Given the description of an element on the screen output the (x, y) to click on. 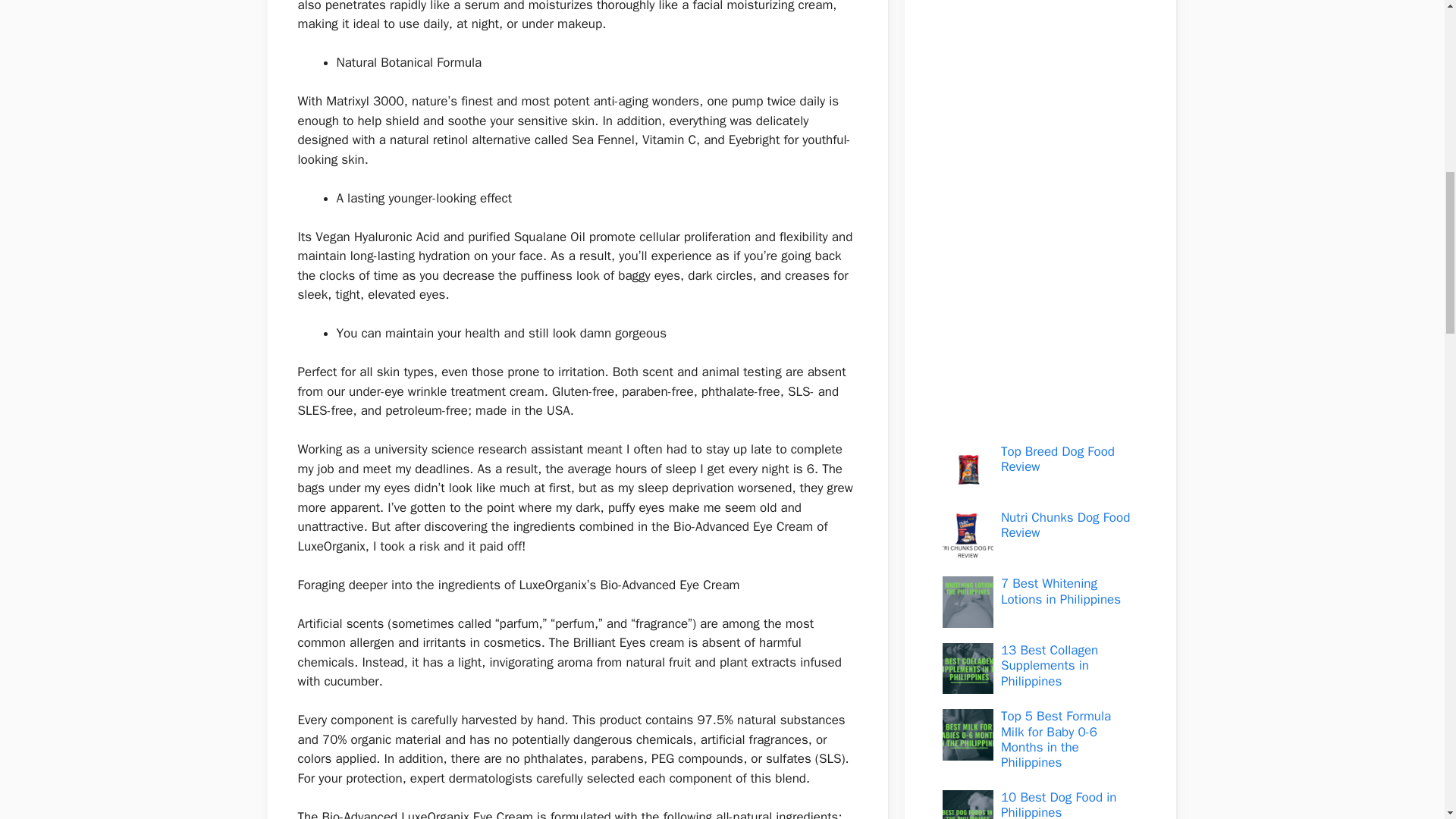
Top Breed Dog Food Review (1058, 459)
7 Best Whitening Lotions in Philippines (1061, 590)
13 Best Collagen Supplements in Philippines (1049, 665)
10 Best Dog Food in Philippines (1058, 804)
Advertisement (1031, 210)
Nutri Chunks Dog Food Review (1065, 524)
